Given the description of an element on the screen output the (x, y) to click on. 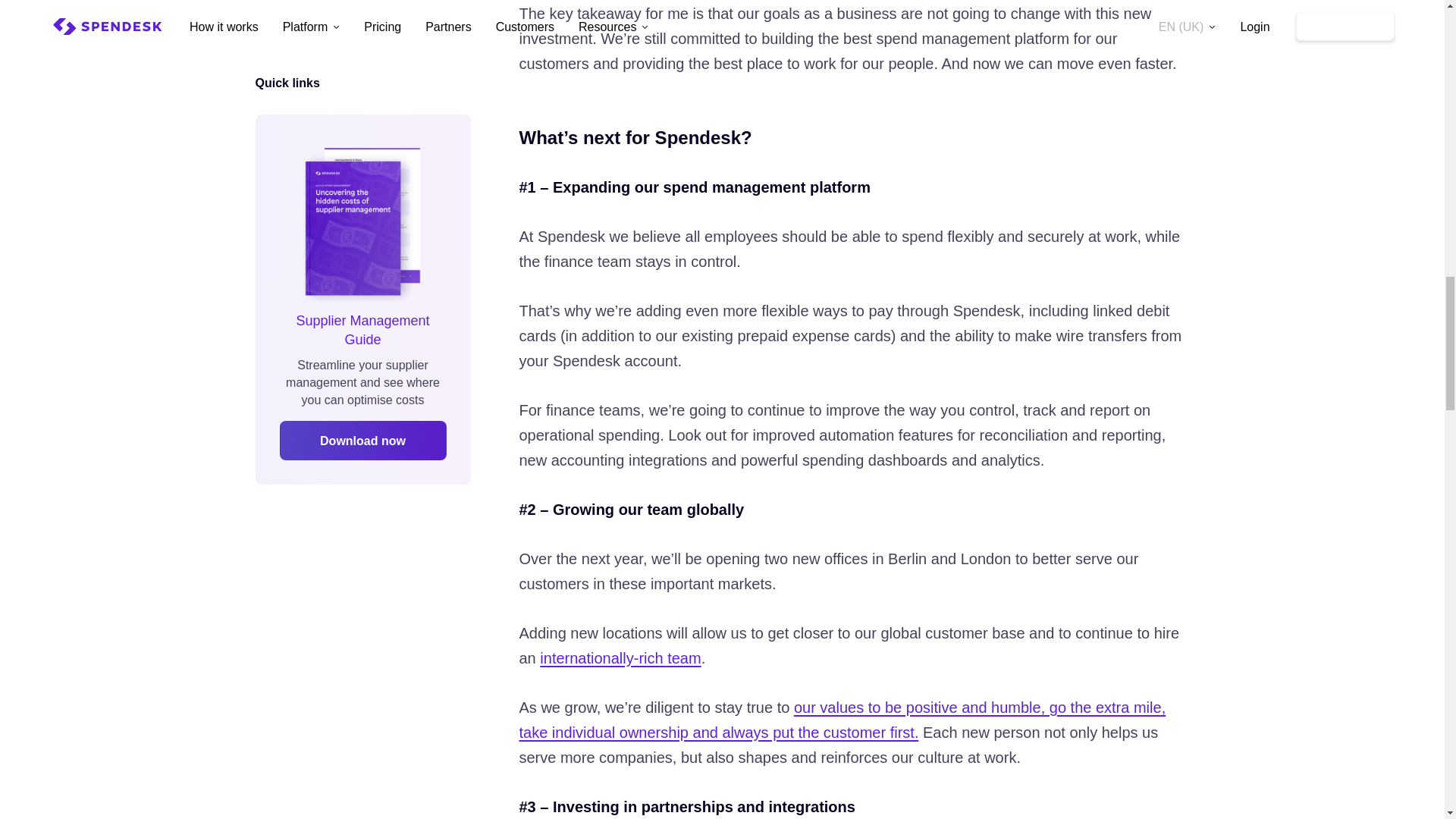
internationally-rich team (620, 658)
